Given the description of an element on the screen output the (x, y) to click on. 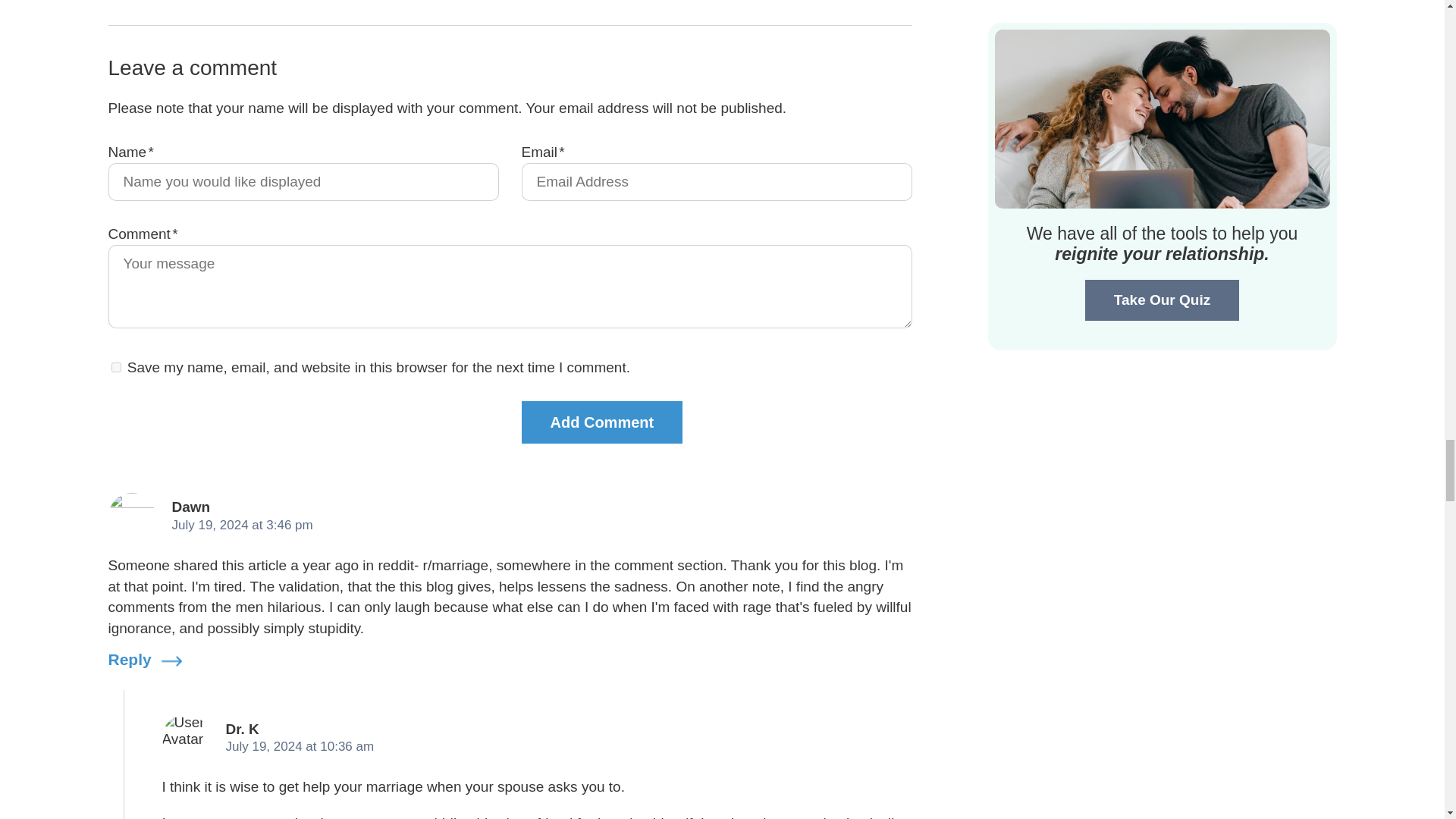
Add Comment (601, 422)
yes (115, 367)
